Given the description of an element on the screen output the (x, y) to click on. 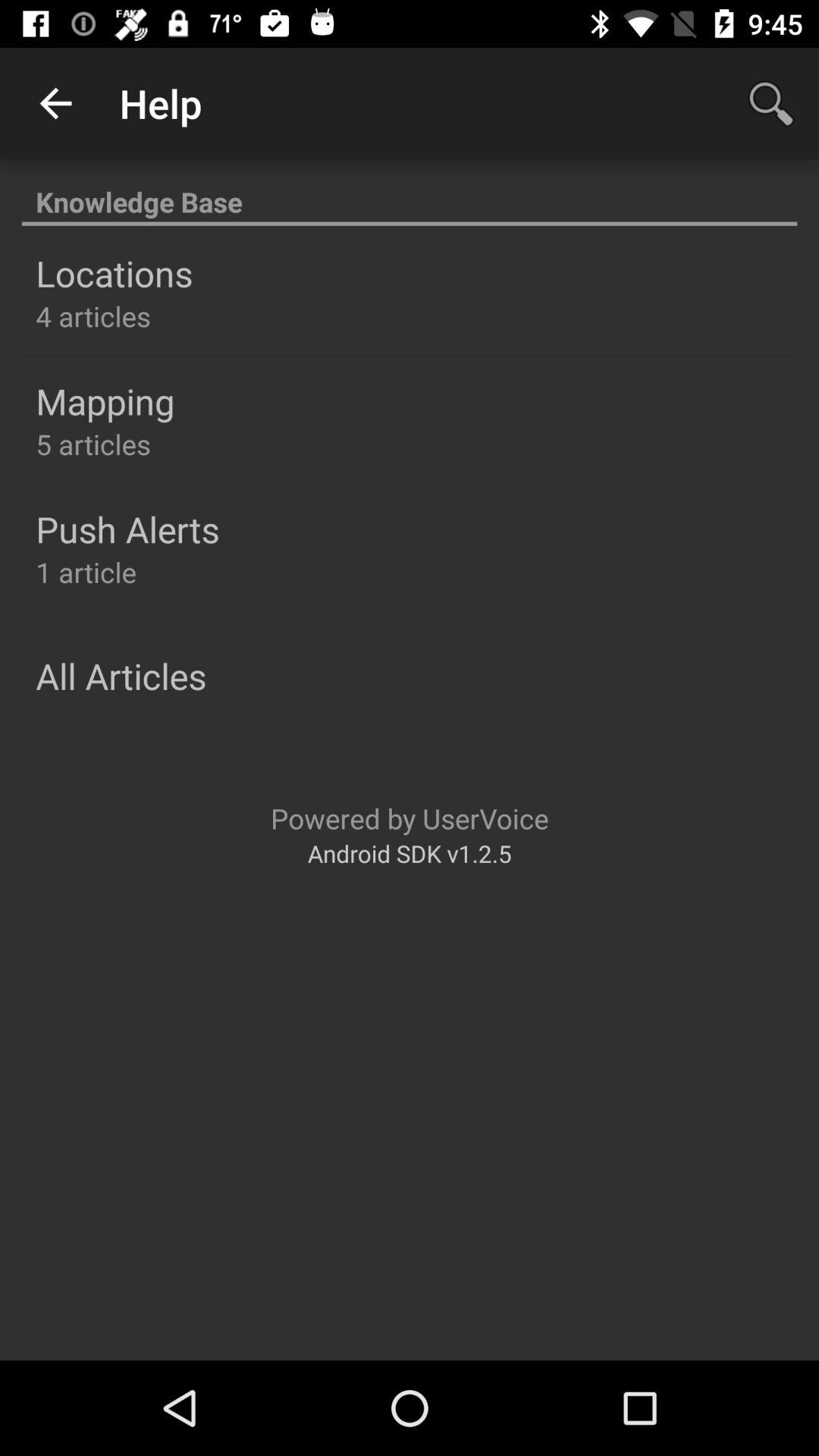
choose android sdk v1 item (409, 853)
